Given the description of an element on the screen output the (x, y) to click on. 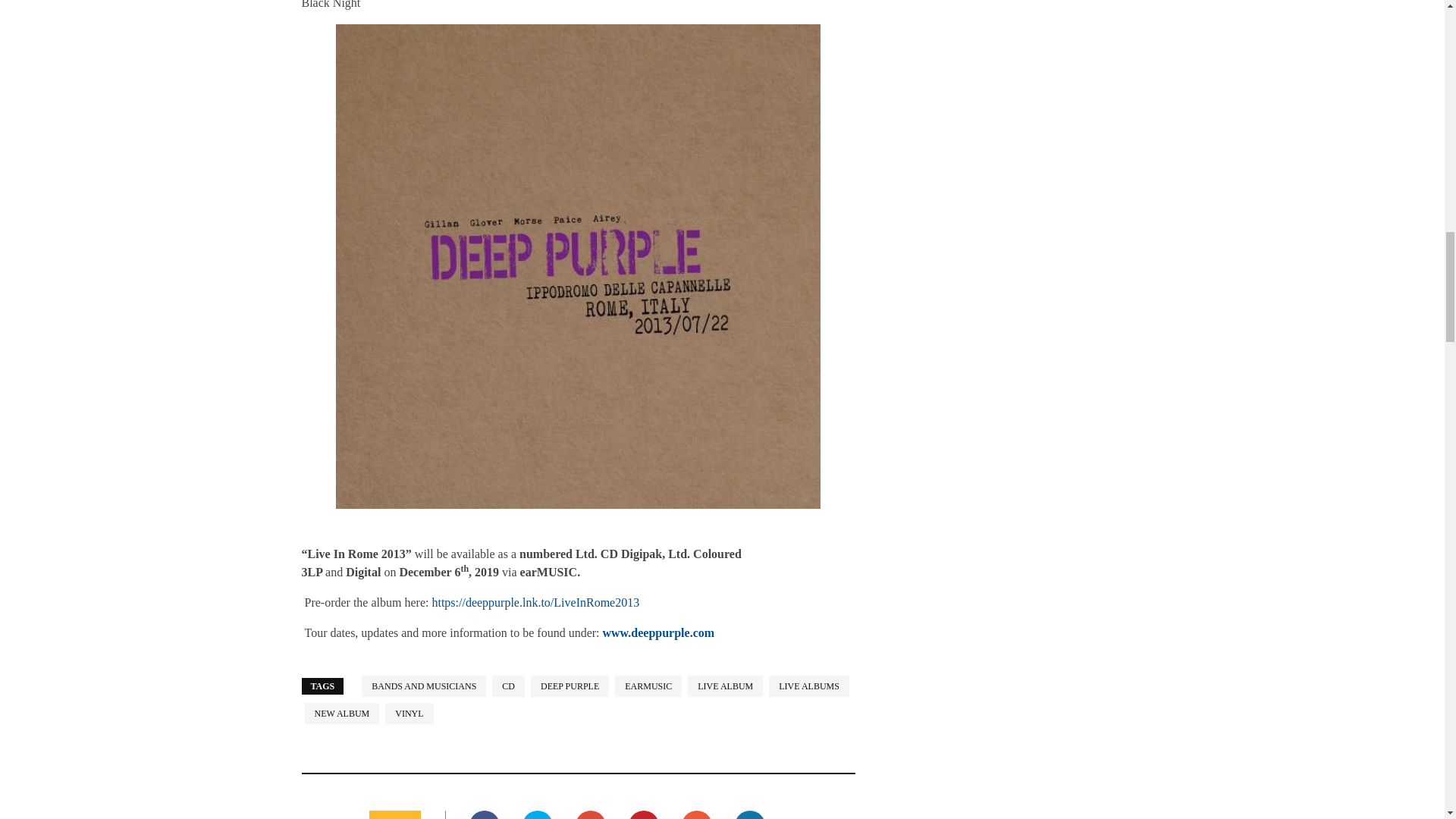
View all posts tagged bands and musicians (423, 685)
View all posts tagged live albums (808, 685)
View all posts tagged earMUSIC (647, 685)
View all posts tagged vinyl (408, 712)
View all posts tagged Deep Purple (569, 685)
View all posts tagged CD (508, 685)
View all posts tagged live album (724, 685)
View all posts tagged new album (342, 712)
